Given the description of an element on the screen output the (x, y) to click on. 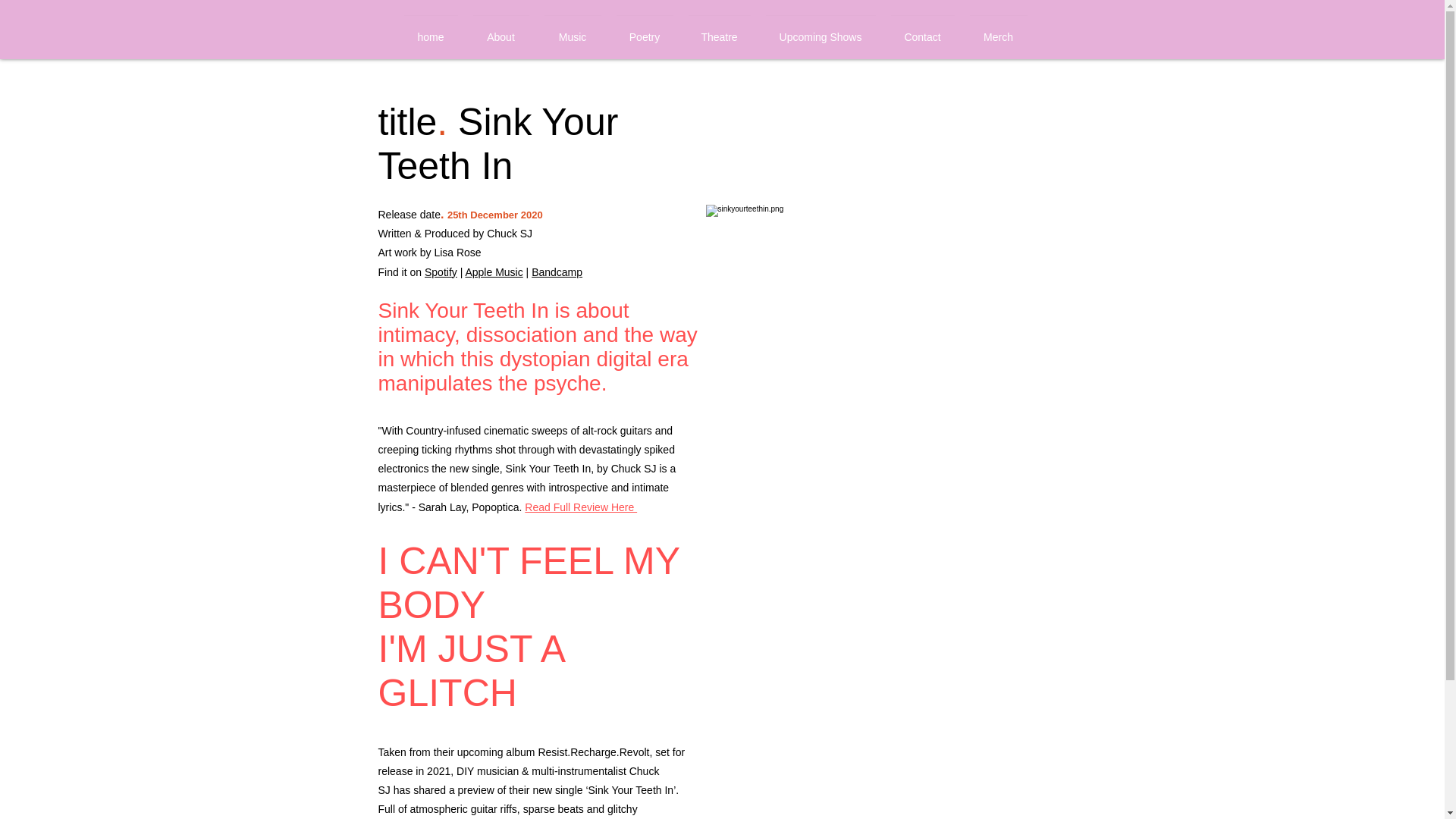
Apple Music (493, 272)
Music (572, 30)
home (430, 30)
Contact (921, 30)
Read Full Review Here  (580, 506)
Poetry (643, 30)
About (501, 30)
Spotify (441, 272)
Merch (996, 30)
Bandcamp (556, 272)
